Given the description of an element on the screen output the (x, y) to click on. 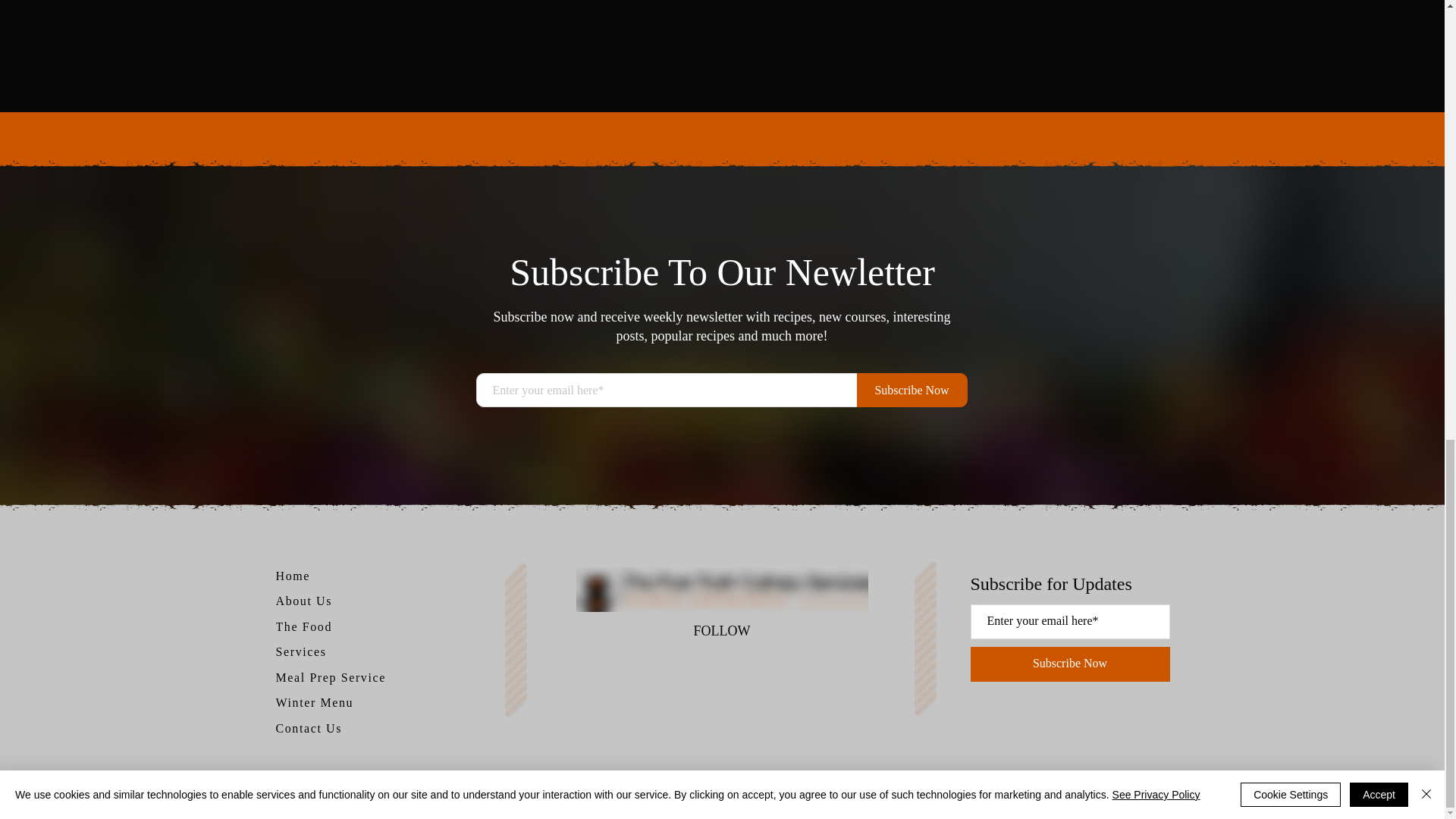
Wix Media Group (862, 802)
About Us (309, 600)
Meal Prep Service (343, 677)
Subscribe Now (912, 390)
Winter Menu (326, 702)
Services (309, 651)
Home (301, 576)
Subscribe Now (1070, 664)
Contact Us (320, 728)
The Food (309, 627)
